Given the description of an element on the screen output the (x, y) to click on. 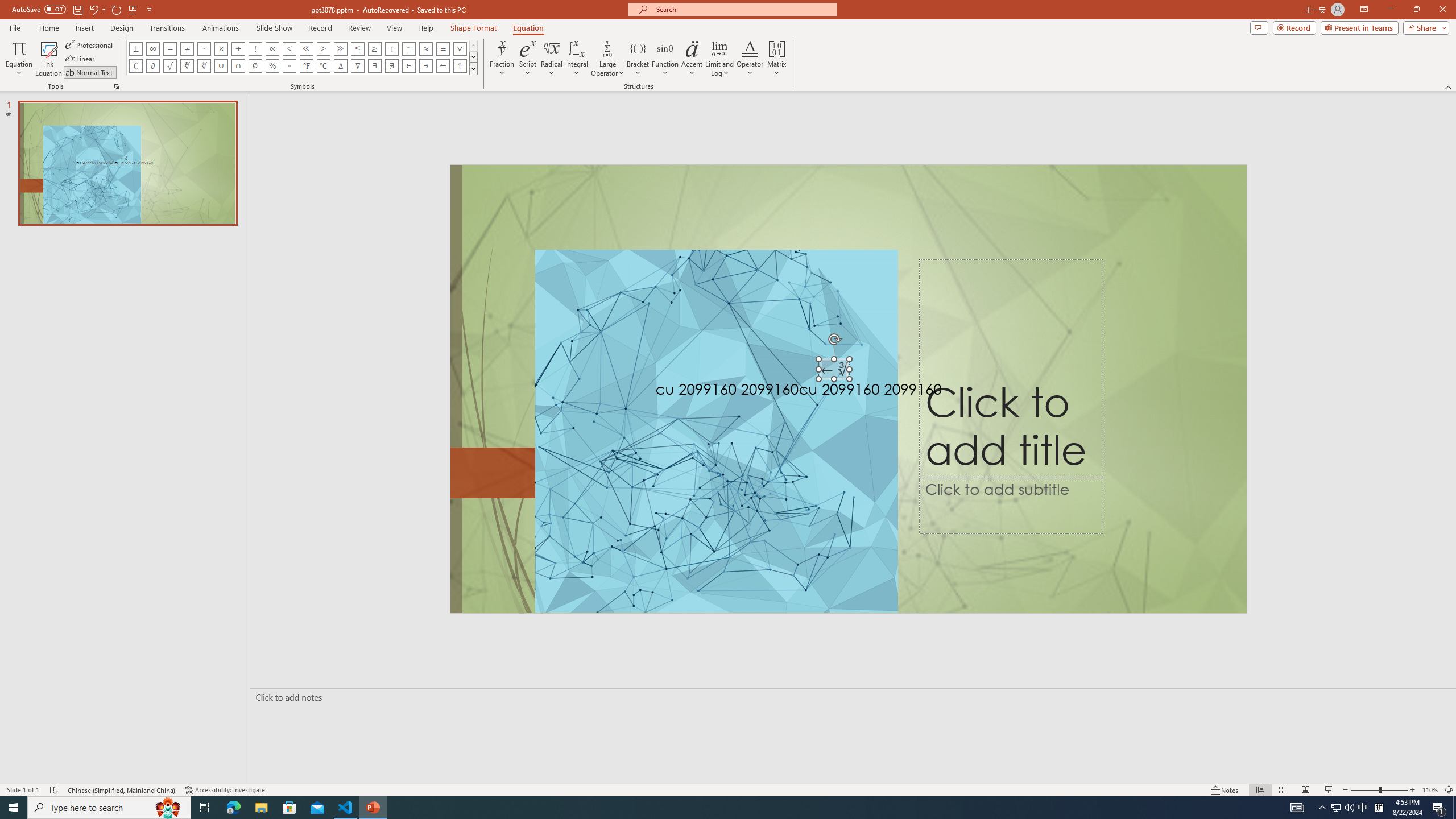
Zoom 110% (1430, 790)
Equation Symbol Degrees Fahrenheit (306, 65)
